Given the description of an element on the screen output the (x, y) to click on. 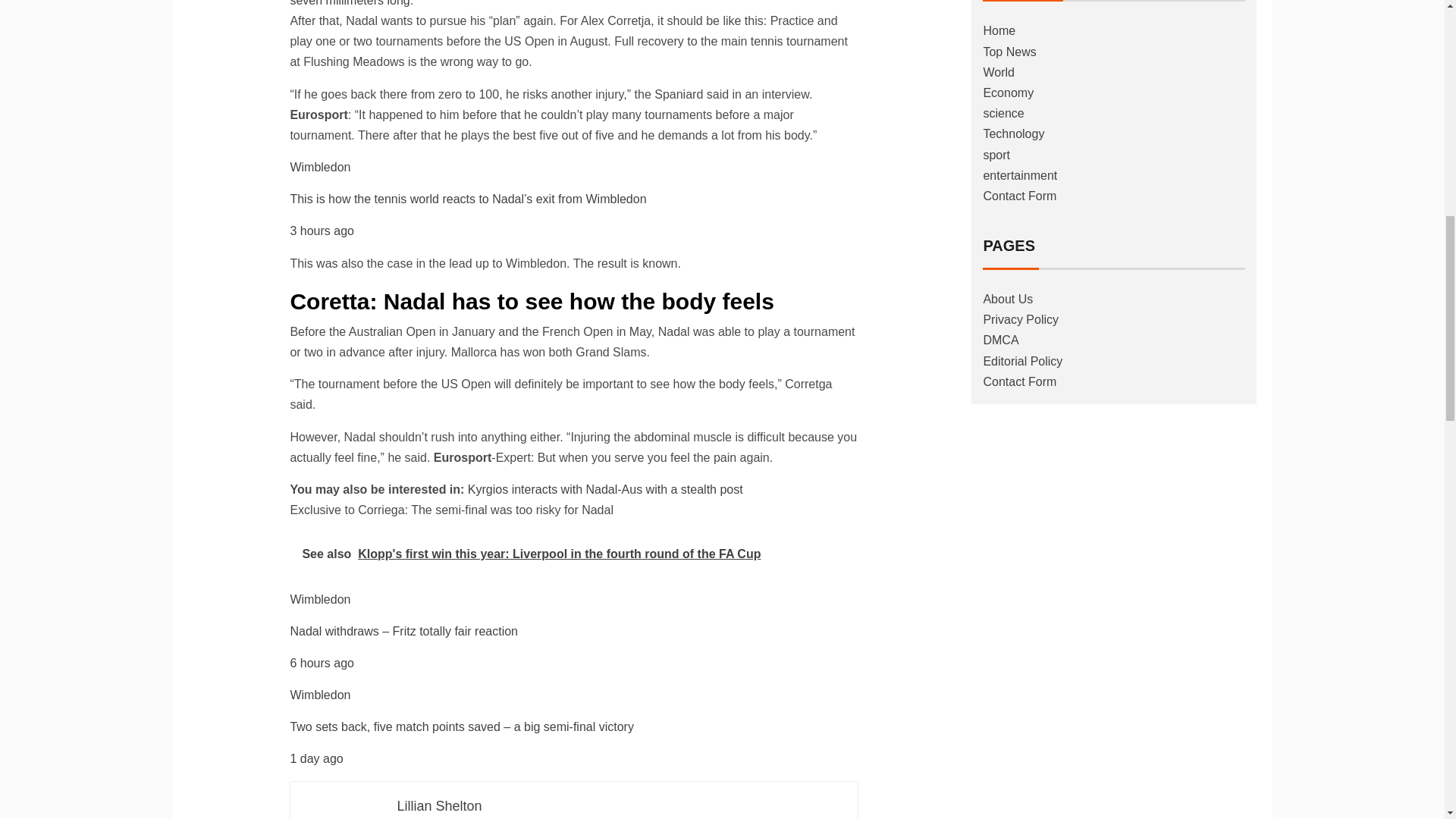
Abdominal muscle tear about seven millimeters long (558, 3)
Kyrgios interacts with Nadal-Aus with a stealth post (604, 489)
